Given the description of an element on the screen output the (x, y) to click on. 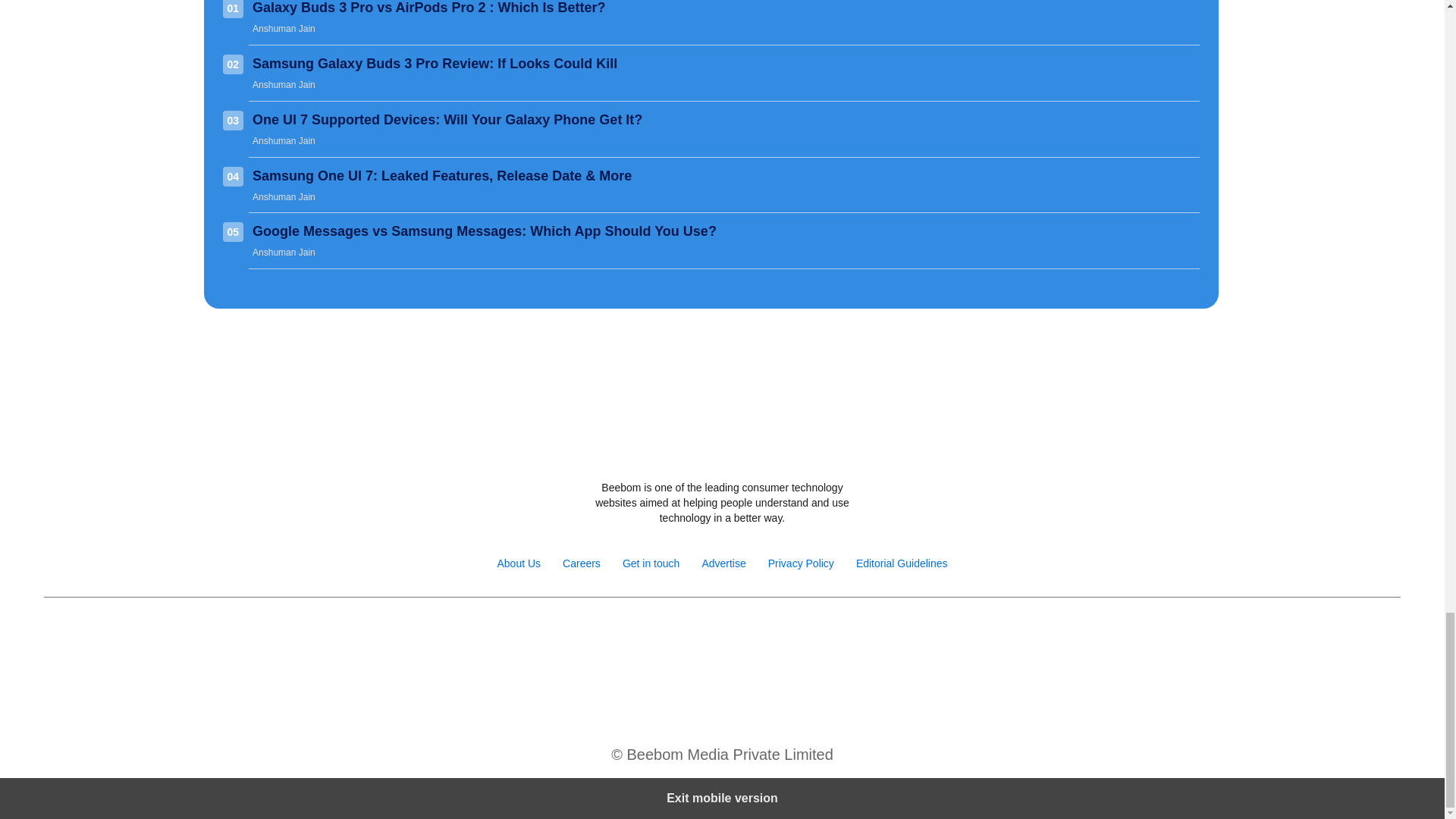
Facebook (640, 635)
Instagram (672, 635)
Beebom (721, 447)
